Given the description of an element on the screen output the (x, y) to click on. 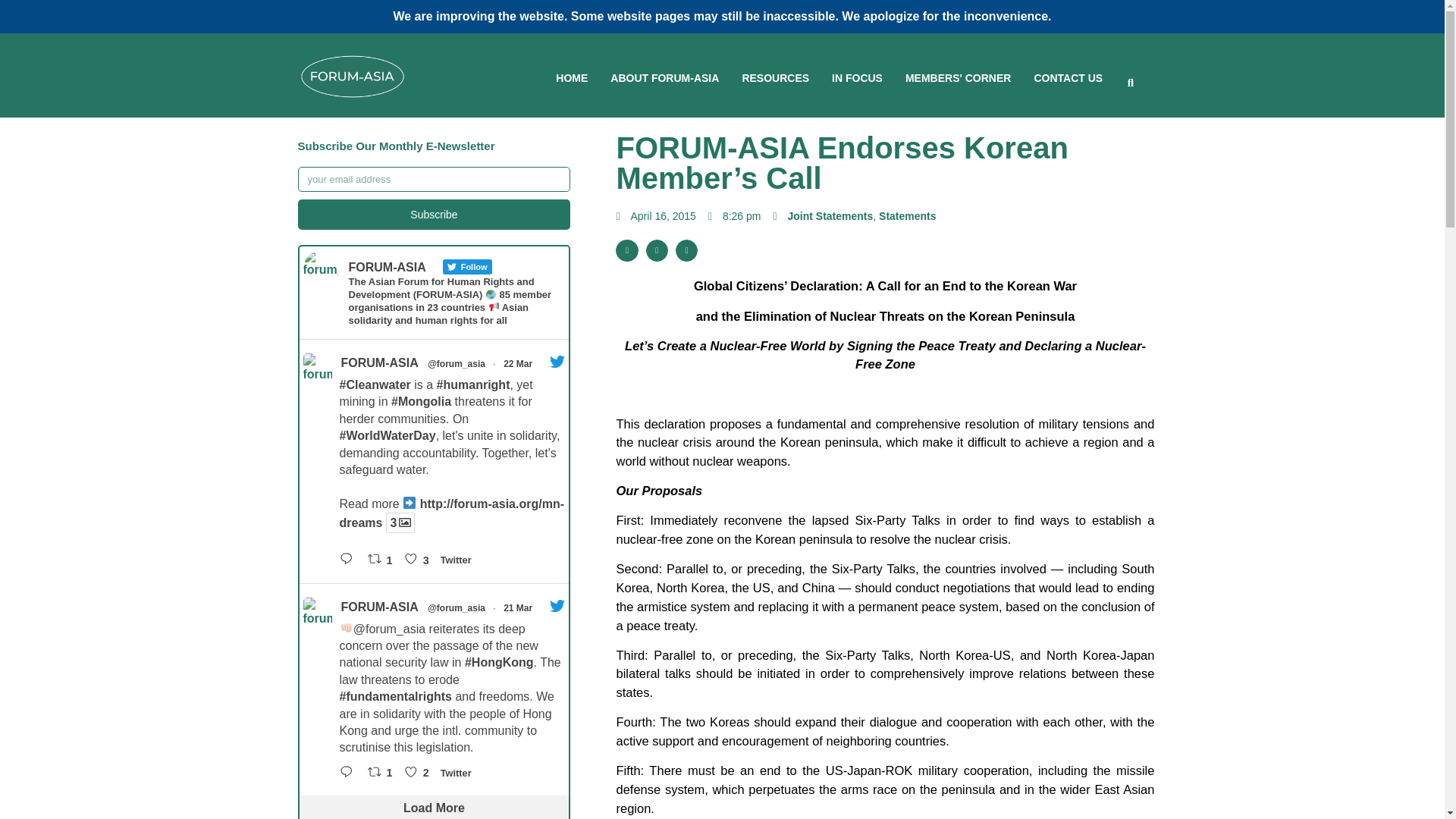
IN FOCUS (856, 78)
HOME (571, 78)
RESOURCES (774, 78)
CONTACT US (1067, 78)
MEMBERS' CORNER (957, 78)
ABOUT FORUM-ASIA (664, 78)
